Given the description of an element on the screen output the (x, y) to click on. 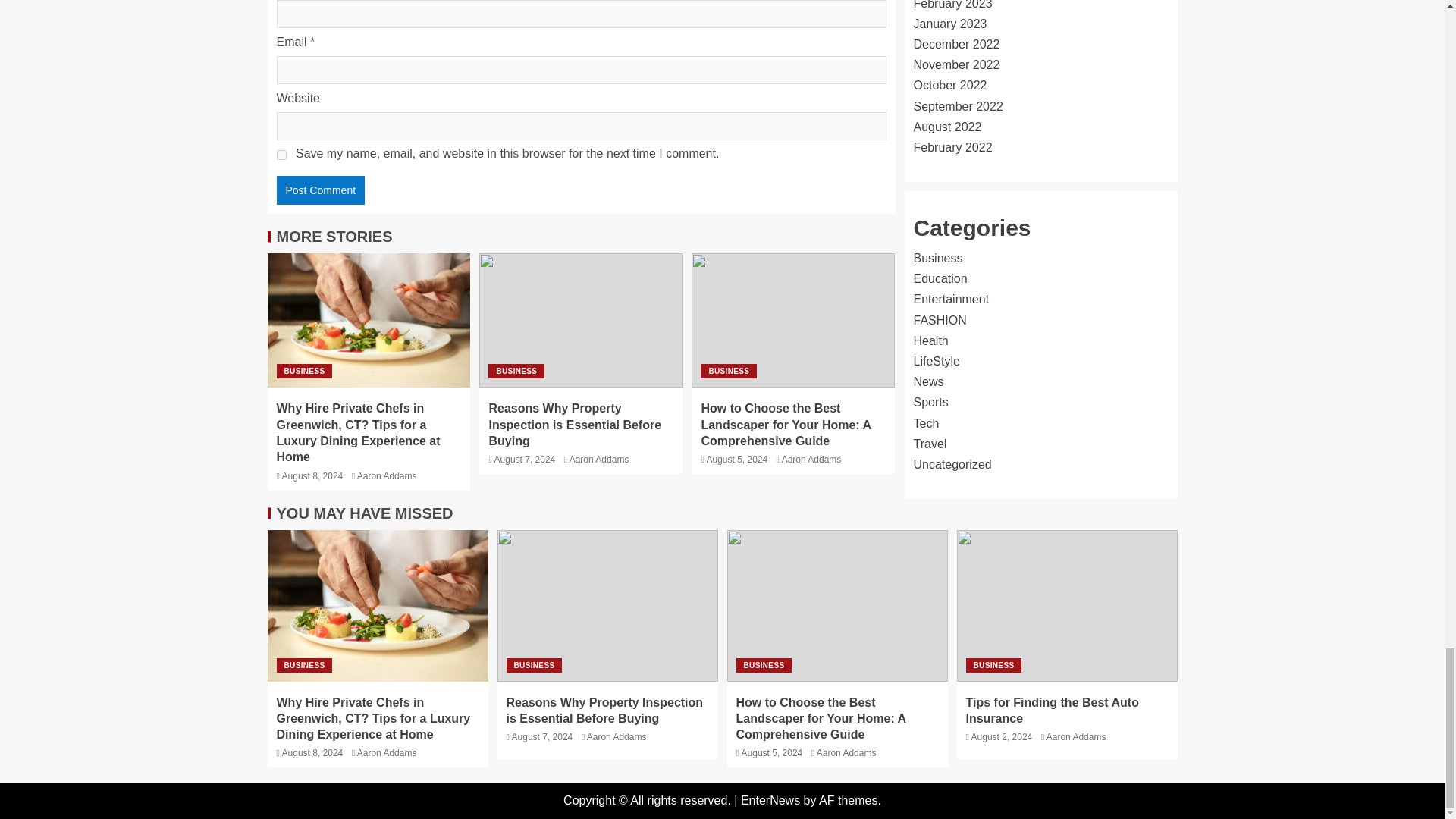
yes (280, 154)
BUSINESS (728, 370)
Reasons Why Property Inspection is Essential Before Buying (574, 424)
Post Comment (320, 190)
Post Comment (320, 190)
BUSINESS (515, 370)
Aaron Addams (386, 475)
Aaron Addams (598, 459)
